Given the description of an element on the screen output the (x, y) to click on. 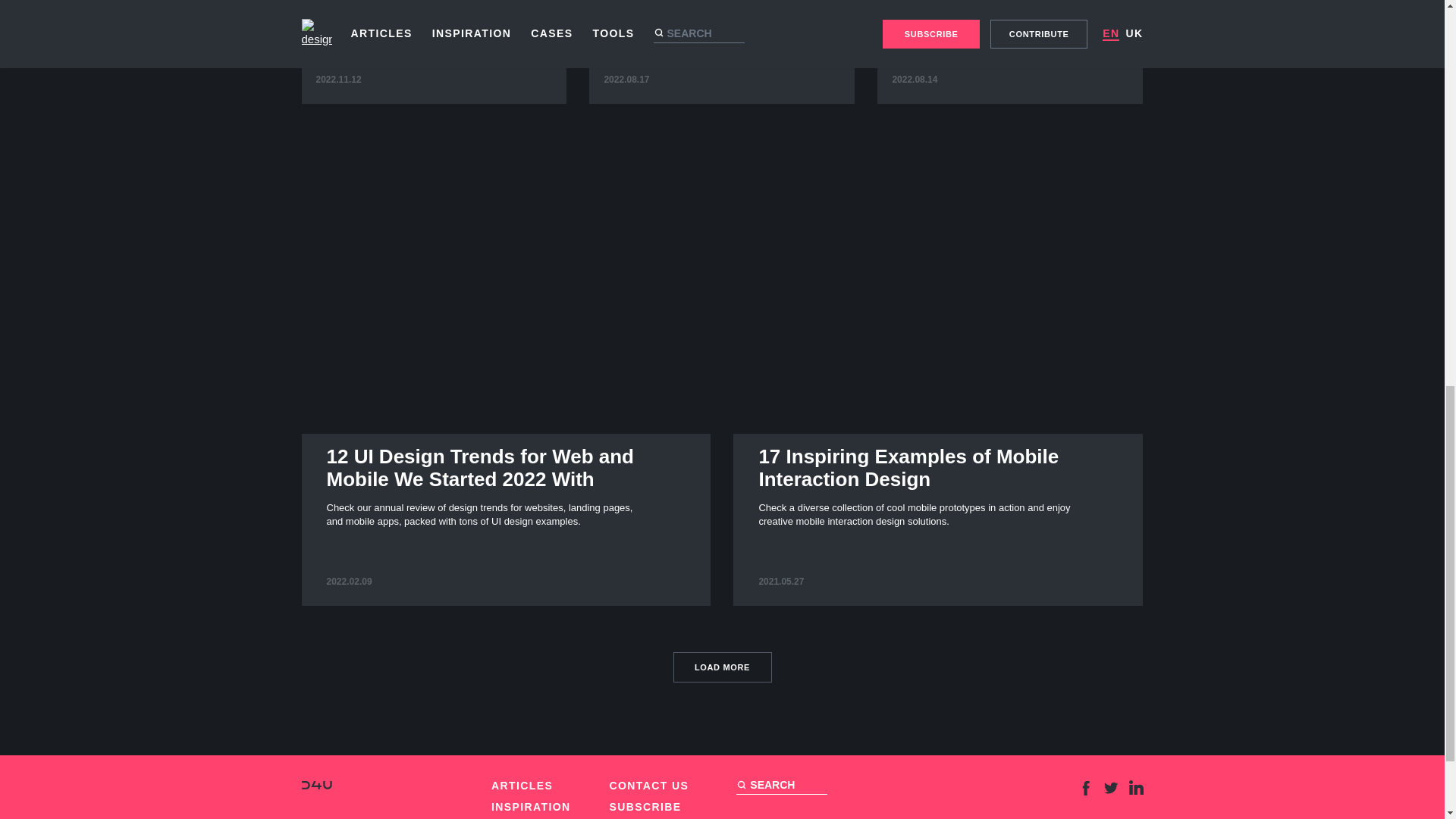
INSPIRATION (531, 806)
SUBSCRIBE (645, 806)
Subscribe (645, 806)
Design4Users (721, 666)
CONTACT US (316, 785)
Case Study: Identity and Web Design for Niche Blankets Brand (649, 785)
24 Hypnotic 3D Animation Concepts by Webshocker (721, 52)
